Given the description of an element on the screen output the (x, y) to click on. 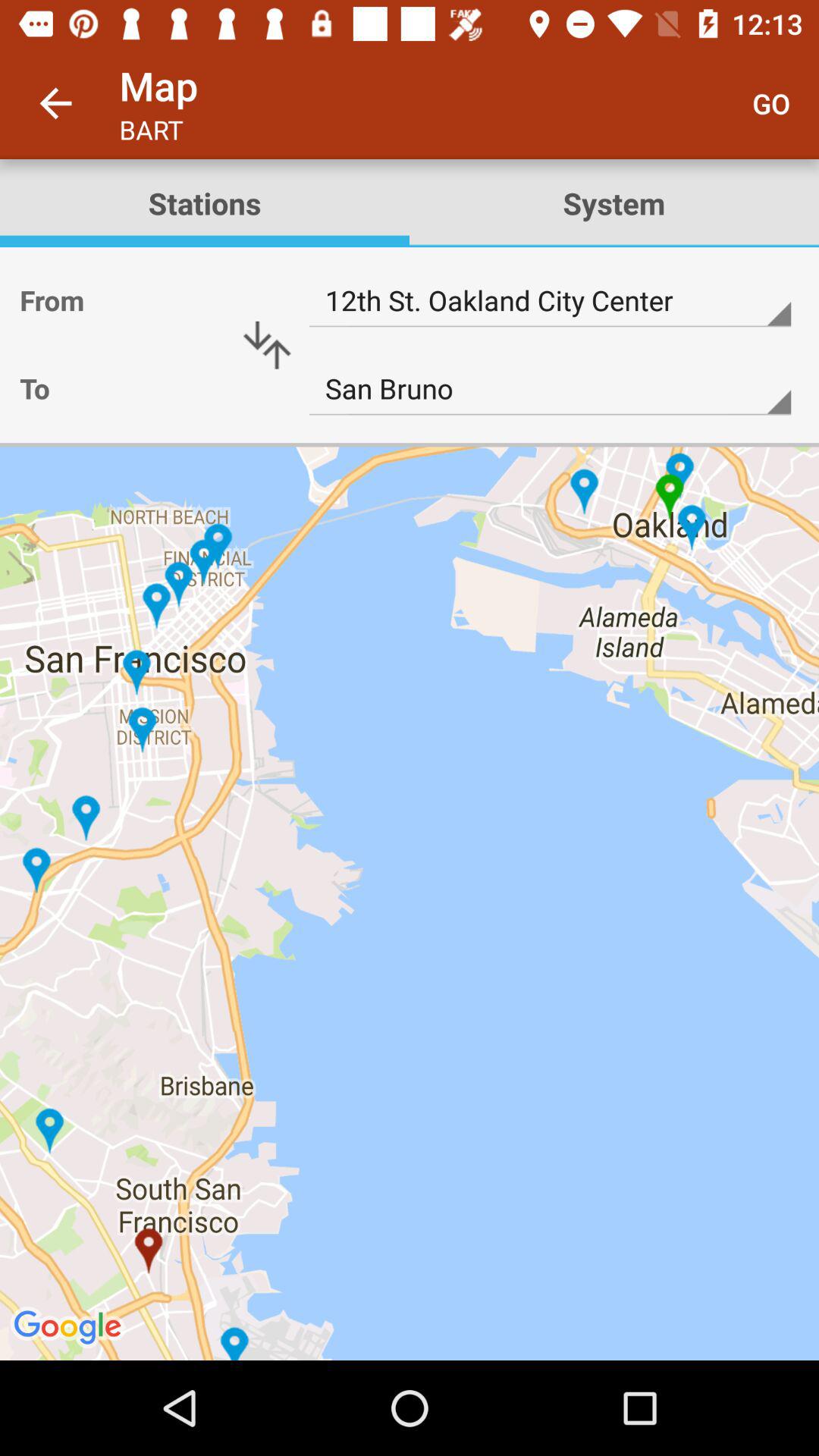
switch departure and destination locations (267, 345)
